Given the description of an element on the screen output the (x, y) to click on. 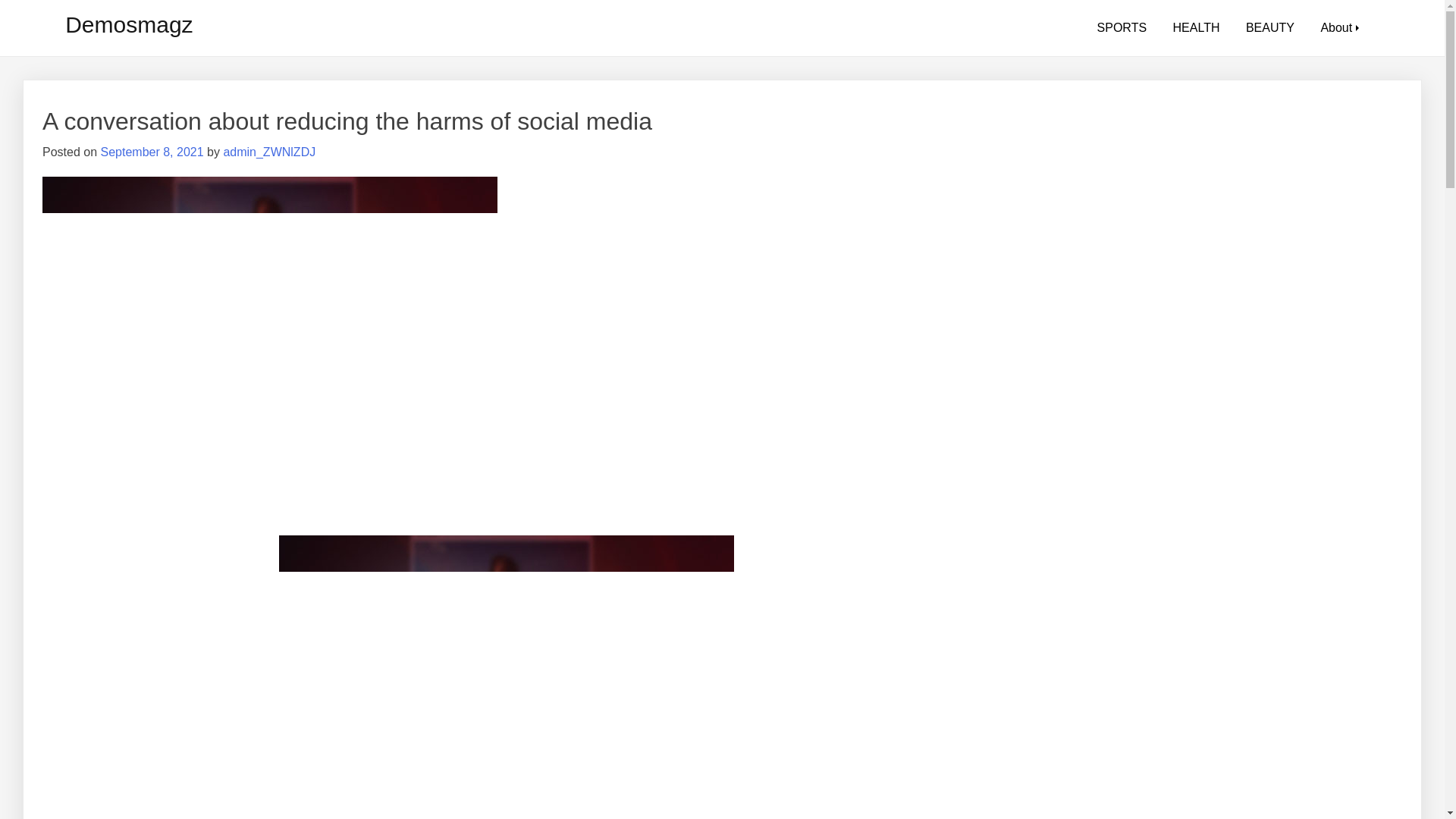
SPORTS (1122, 28)
HEALTH (1196, 28)
September 8, 2021 (151, 151)
Demosmagz (128, 24)
About (1335, 28)
BEAUTY (1270, 28)
